Given the description of an element on the screen output the (x, y) to click on. 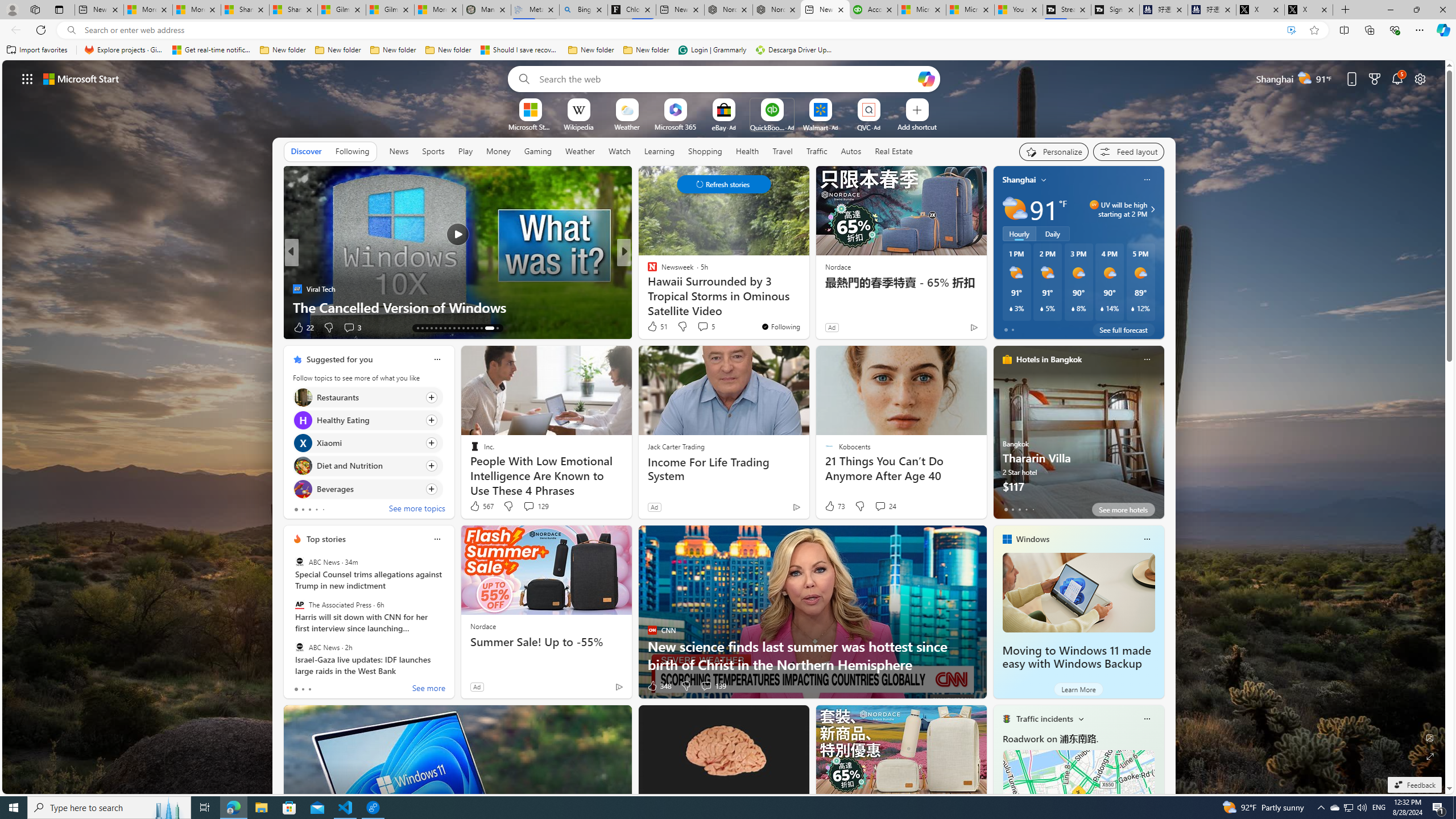
AutomationID: tab-25 (454, 328)
Personalize your feed" (1054, 151)
AutomationID: tab-31 (481, 328)
Import favorites (36, 49)
Learning (659, 151)
Should I save recovered Word documents? - Microsoft Support (519, 49)
Restaurants (302, 397)
You're following The Weather Channel (253, 329)
